Given the description of an element on the screen output the (x, y) to click on. 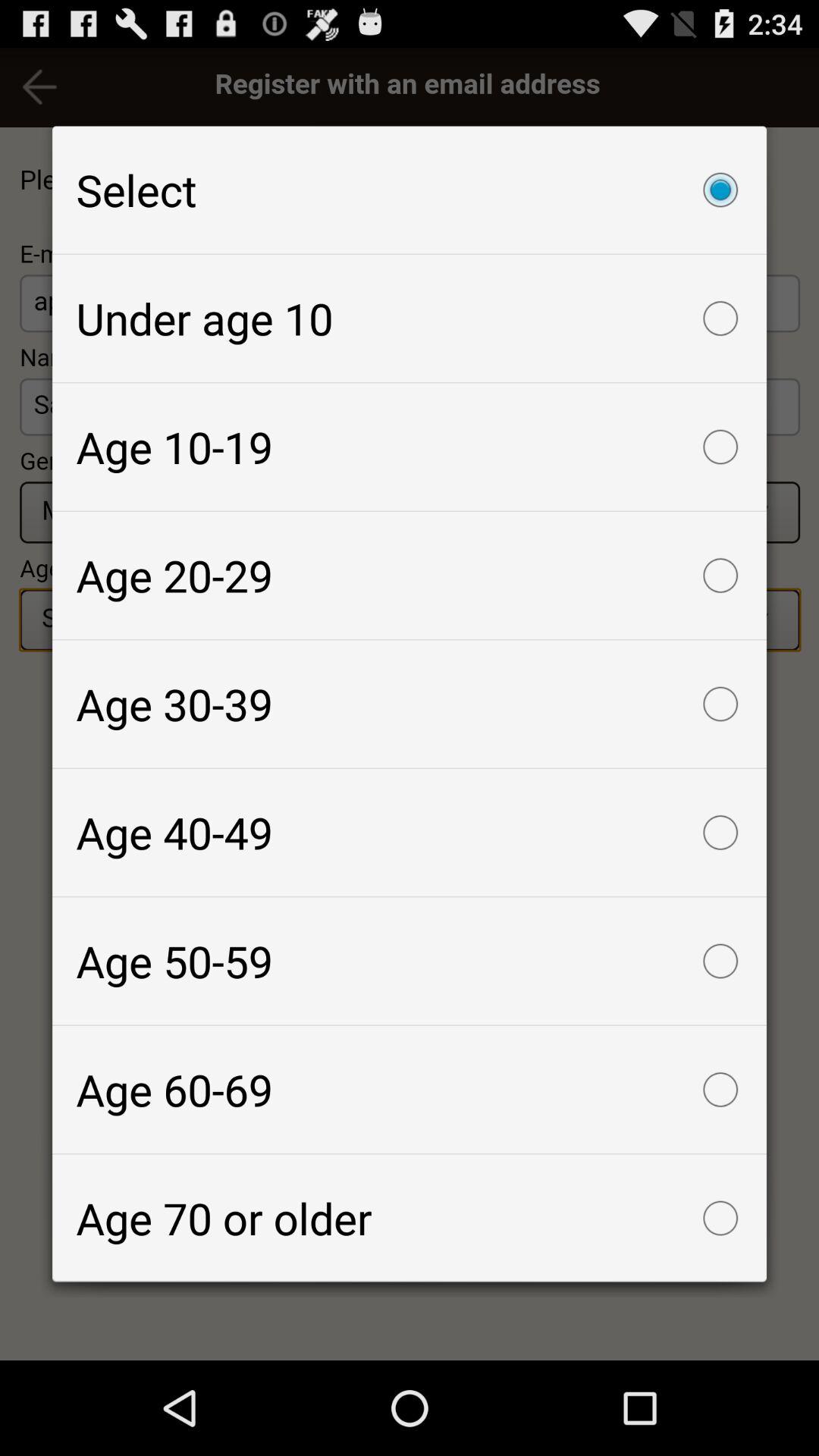
tap the checkbox below the age 20-29 checkbox (409, 703)
